Given the description of an element on the screen output the (x, y) to click on. 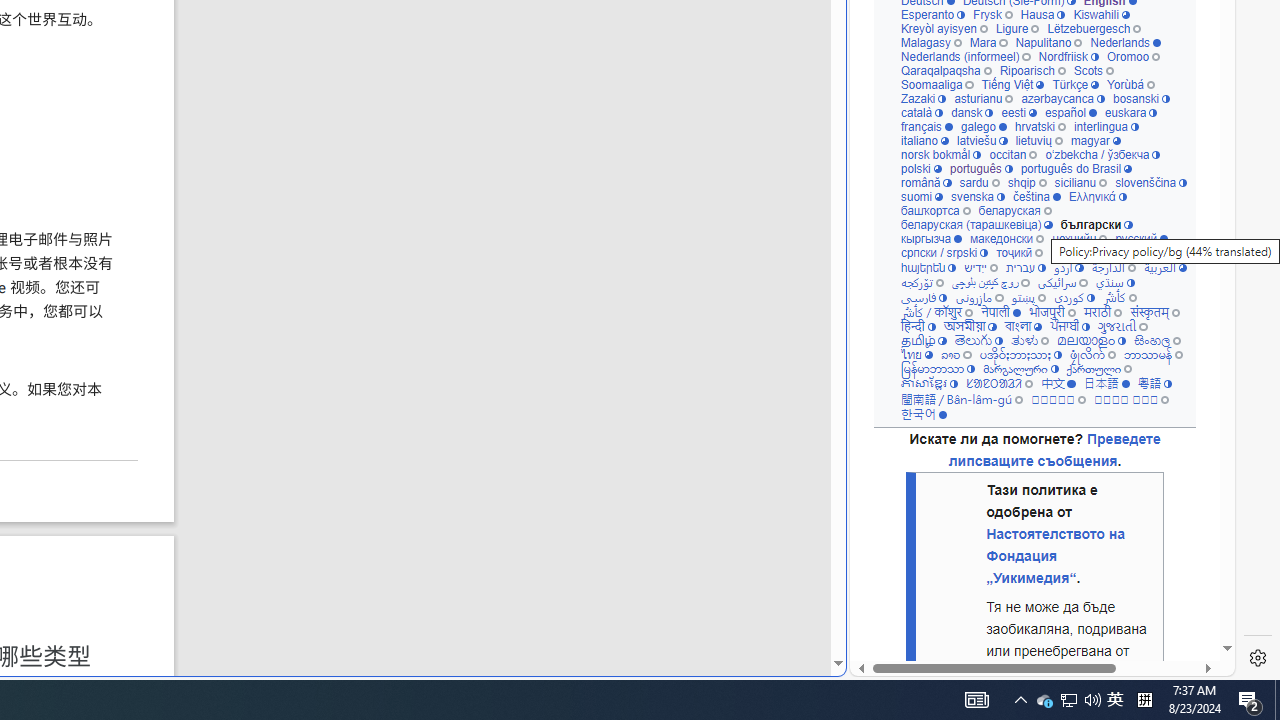
Soomaaliga (936, 84)
shqip (1027, 182)
occitan (1013, 154)
Nederlands (1126, 42)
